Given the description of an element on the screen output the (x, y) to click on. 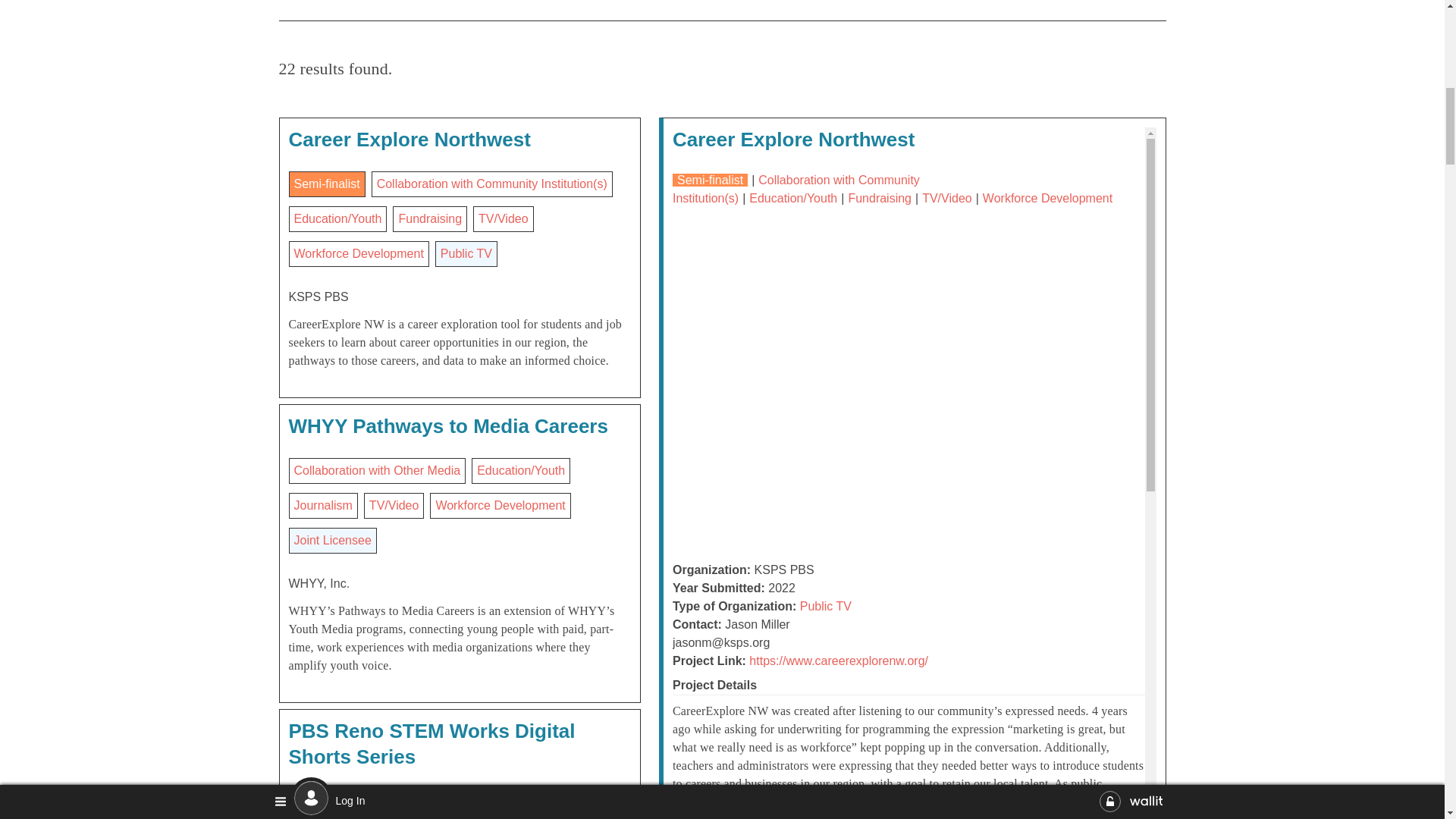
Semi-finalist (326, 183)
Workforce Development (499, 504)
Permalink to WHYY Pathways to Media Careers (447, 425)
Journalism (323, 504)
Permalink to Career Explore Northwest (408, 138)
Public TV (466, 253)
PBS Reno STEM Works Digital Shorts Series (431, 743)
WHYY Pathways to Media Careers (447, 425)
Fundraising (429, 218)
Permalink to PBS Reno STEM Works Digital Shorts Series (431, 743)
Career Explore Northwest (408, 138)
Collaboration with Other Media (377, 470)
Joint Licensee (332, 540)
Workforce Development (358, 253)
